Given the description of an element on the screen output the (x, y) to click on. 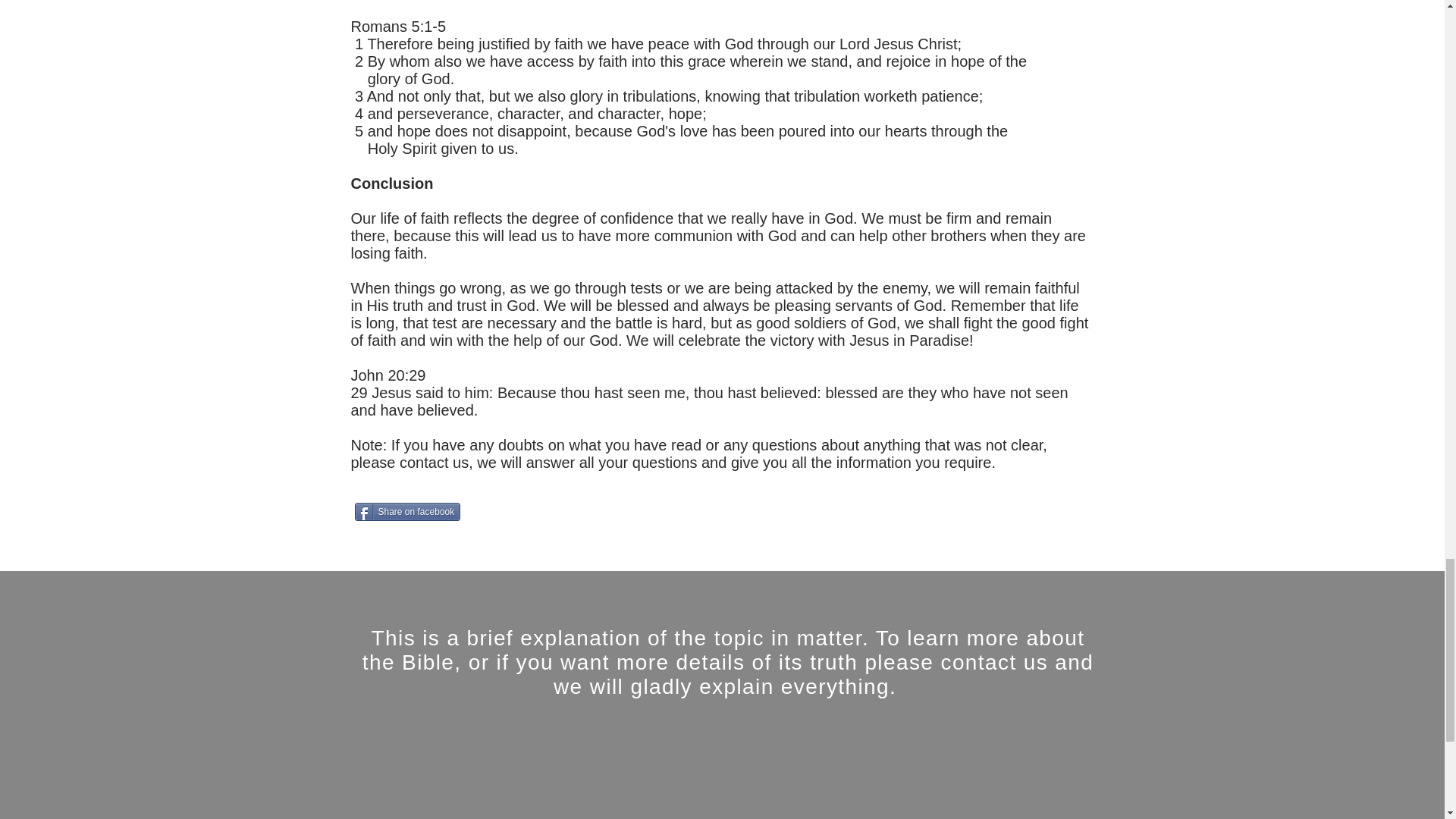
Share on facebook (408, 511)
Twitter Tweet (534, 512)
Share on facebook (408, 511)
